Given the description of an element on the screen output the (x, y) to click on. 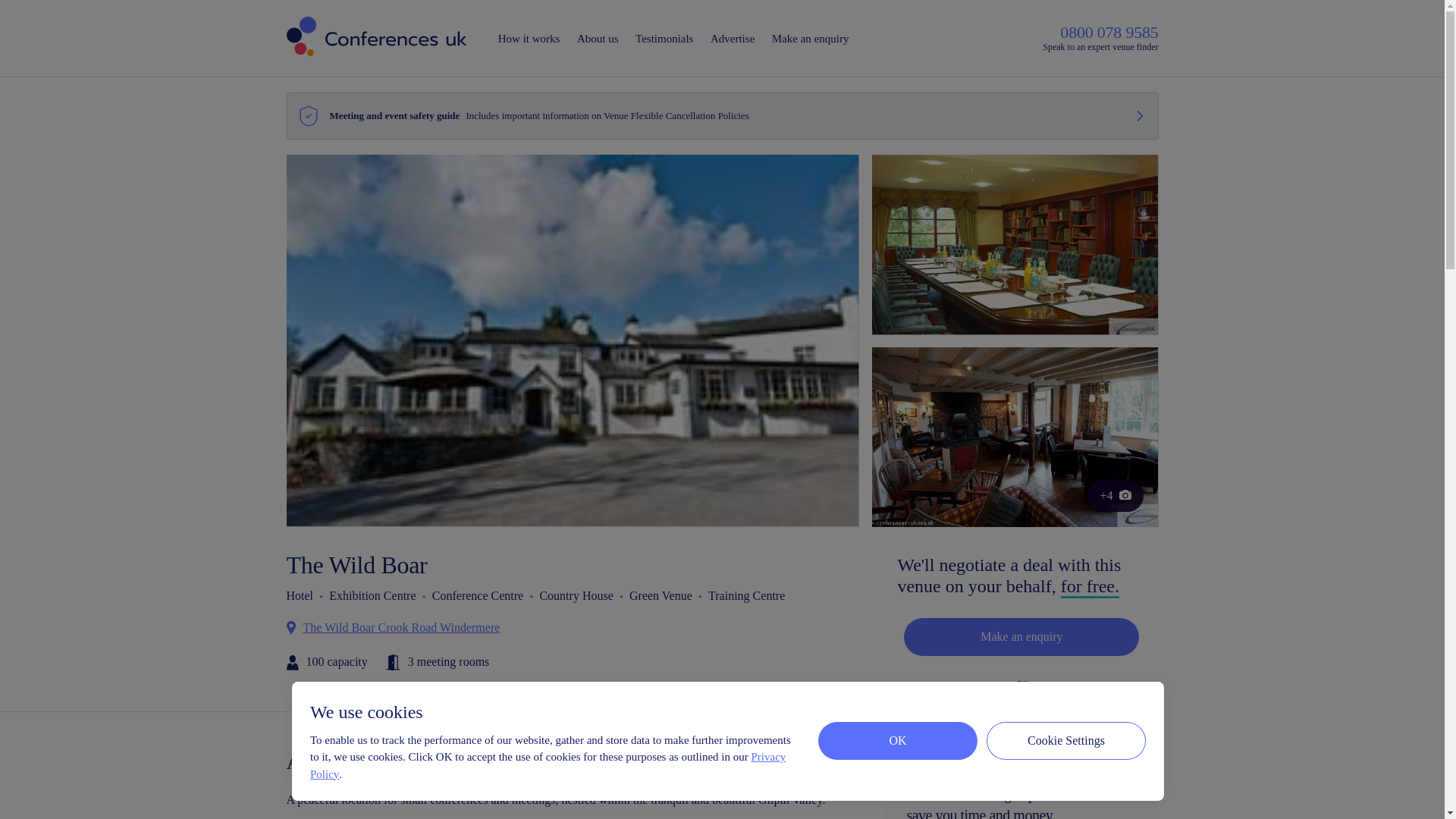
How it works (529, 39)
0800 078 9585 (1050, 714)
Privacy Policy (548, 765)
Make an enquiry (1021, 637)
Testimonials (664, 39)
Cookie Settings (1066, 740)
About us (598, 39)
0800 078 9585 (1109, 32)
Advertise (731, 39)
